Given the description of an element on the screen output the (x, y) to click on. 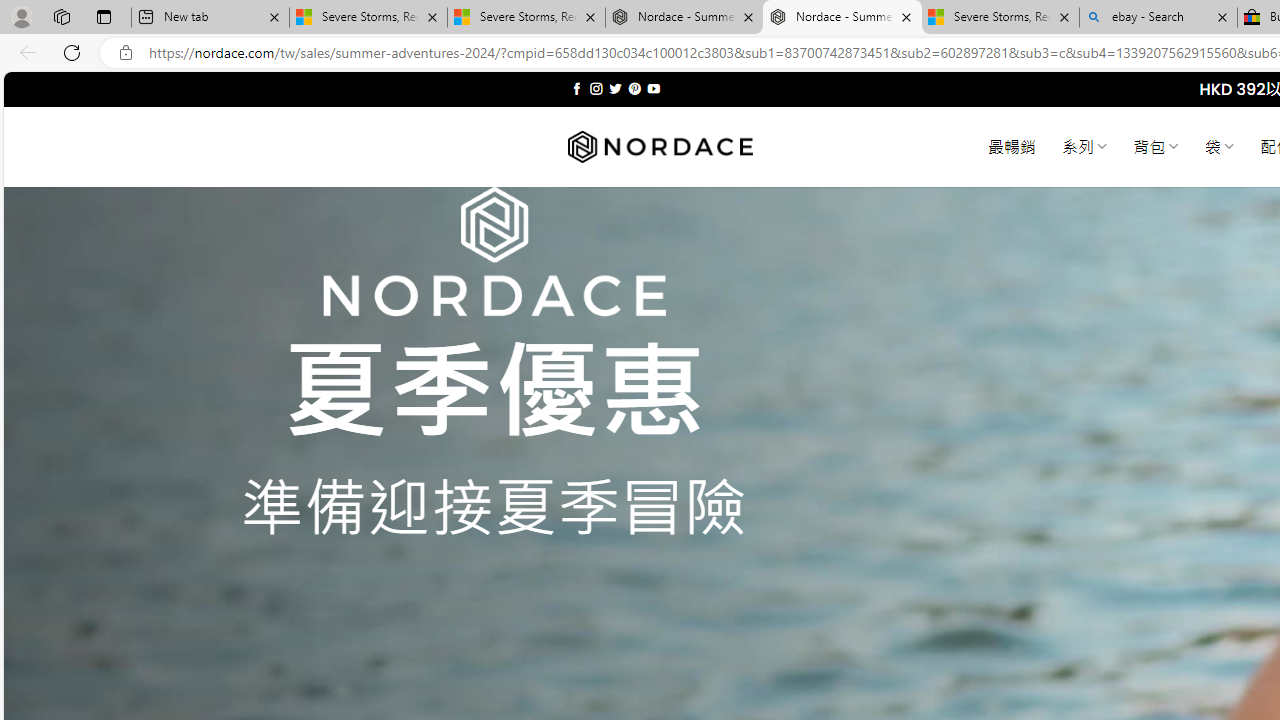
ebay - Search (1158, 17)
Follow on Twitter (615, 88)
Follow on Pinterest (634, 88)
Follow on YouTube (653, 88)
